Given the description of an element on the screen output the (x, y) to click on. 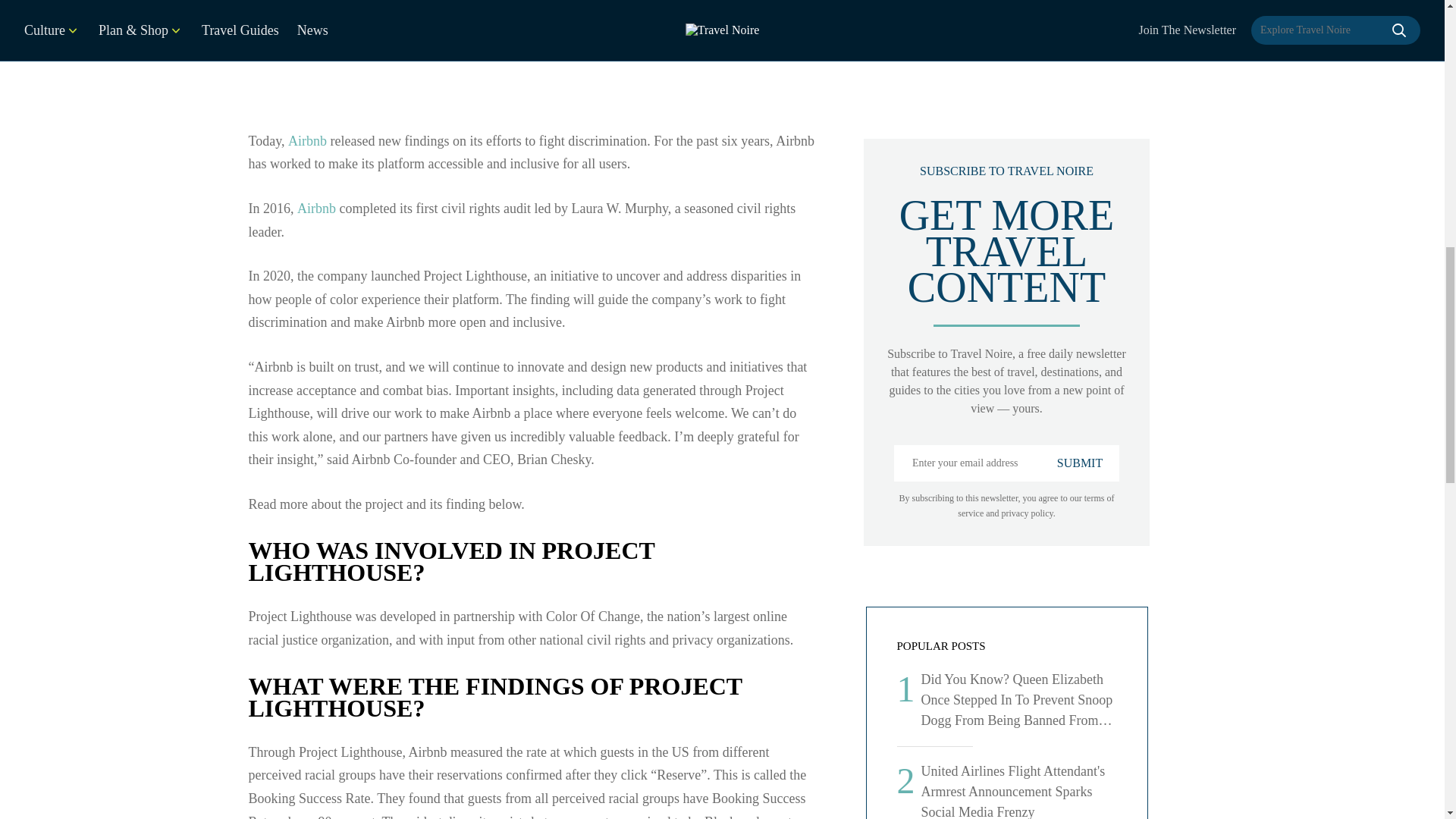
SUBMIT (1079, 463)
Airbnb (318, 208)
Airbnb (307, 140)
